Given the description of an element on the screen output the (x, y) to click on. 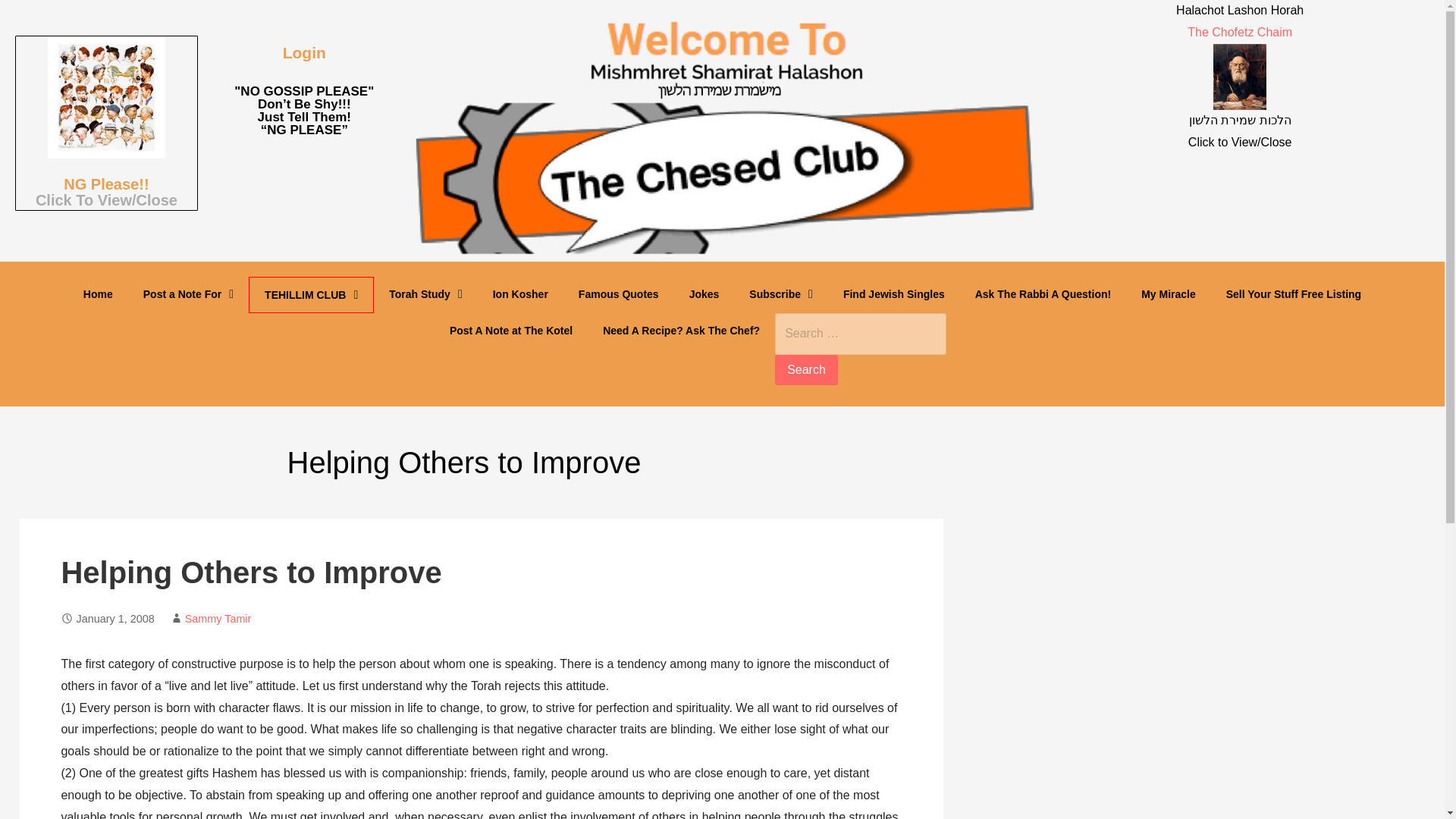
Search (806, 369)
Search (806, 369)
Posts by Sammy Tamir (217, 618)
Login (303, 52)
